Given the description of an element on the screen output the (x, y) to click on. 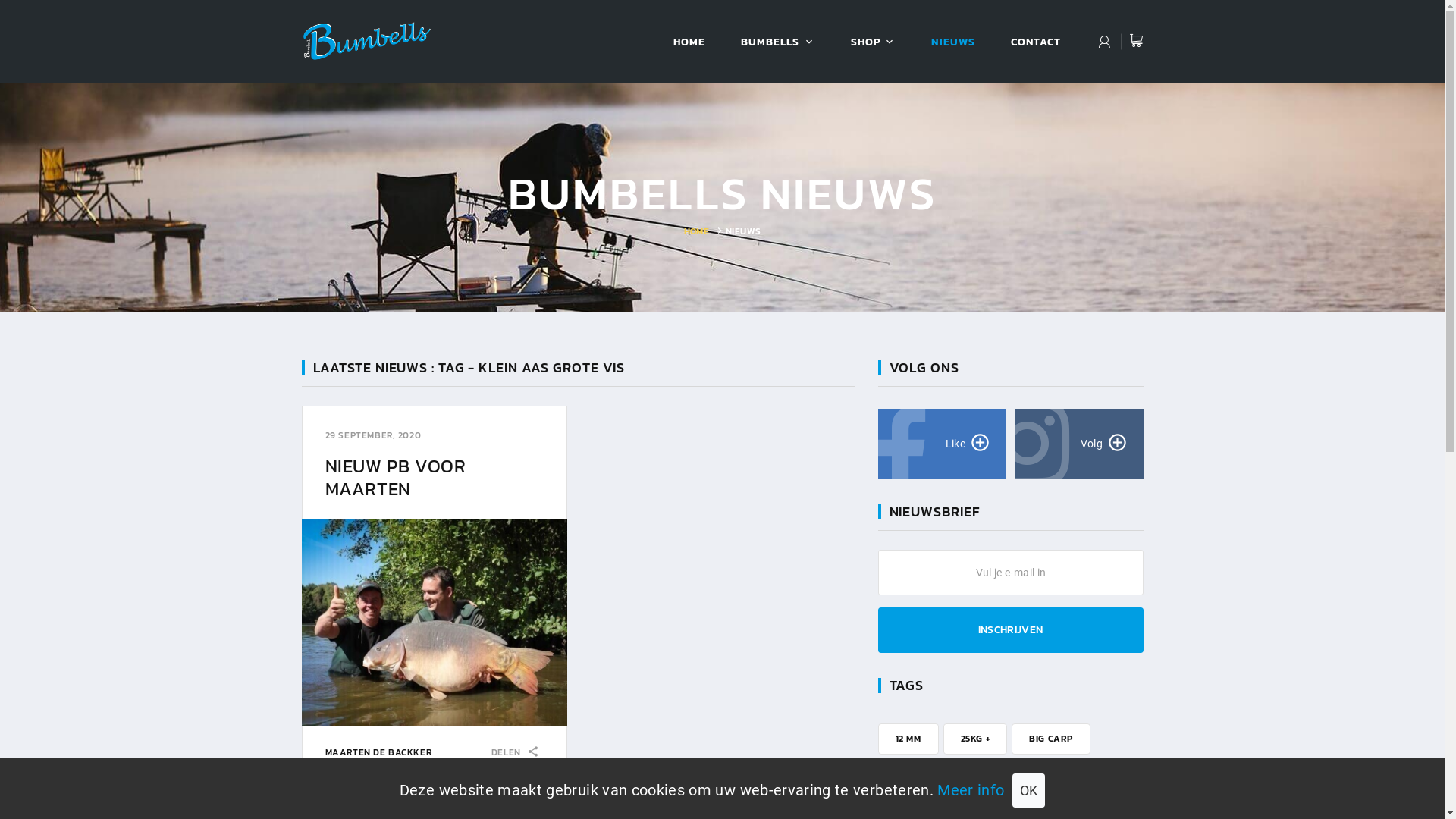
Volg Element type: text (1078, 444)
12 MM Element type: text (908, 738)
Like Element type: text (942, 444)
NIEUW PB VOOR MAARTEN Element type: text (394, 477)
BUMBELLS Element type: text (769, 42)
BOILIES Element type: text (912, 774)
HOME Element type: text (696, 231)
BIG CARP Element type: text (1050, 738)
NIEUWS Element type: text (952, 42)
HOME Element type: text (689, 42)
winkelwagen Element type: hover (1135, 41)
Login Element type: hover (1104, 43)
BUMBELLS Element type: text (993, 774)
INSCHRIJVEN Element type: text (1010, 629)
CONTACT Element type: text (1035, 42)
Meer info Element type: text (970, 790)
SHOP Element type: text (865, 42)
25KG + Element type: text (975, 738)
